Given the description of an element on the screen output the (x, y) to click on. 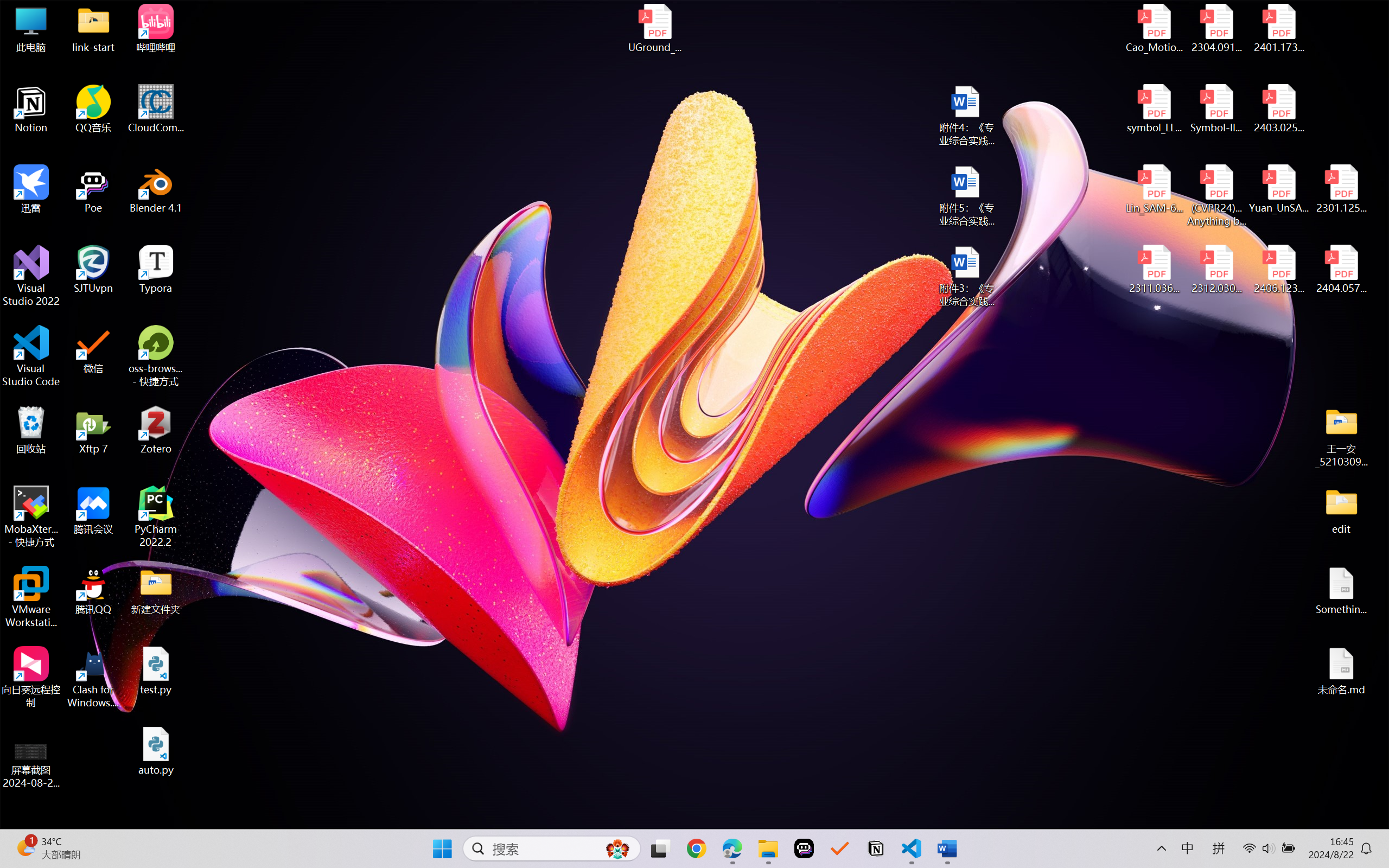
Blender 4.1 (156, 189)
SJTUvpn (93, 269)
Xftp 7 (93, 430)
Visual Studio 2022 (31, 276)
VMware Workstation Pro (31, 597)
Visual Studio Code (31, 355)
